Given the description of an element on the screen output the (x, y) to click on. 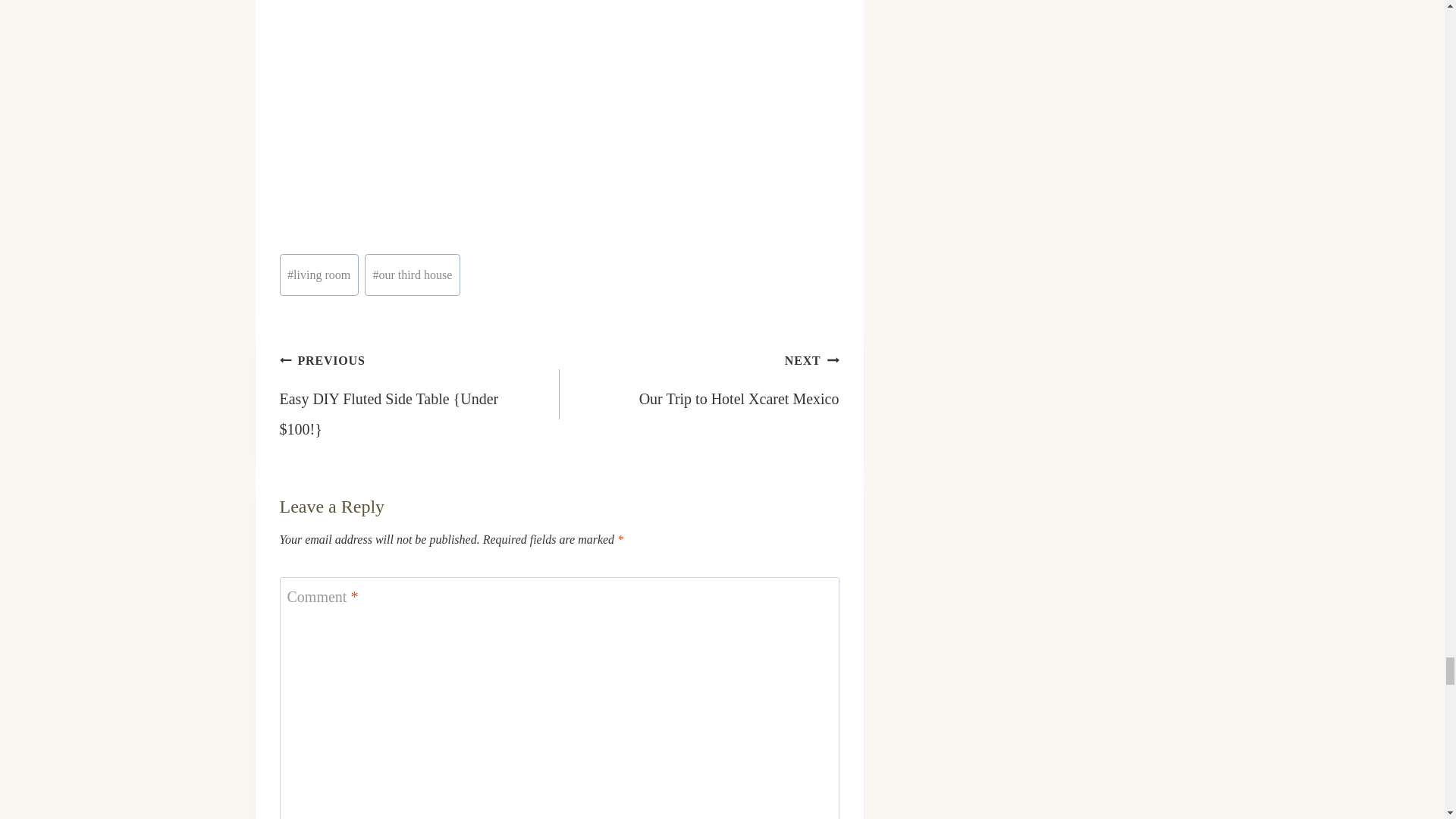
living room (318, 274)
our third house (412, 274)
